Given the description of an element on the screen output the (x, y) to click on. 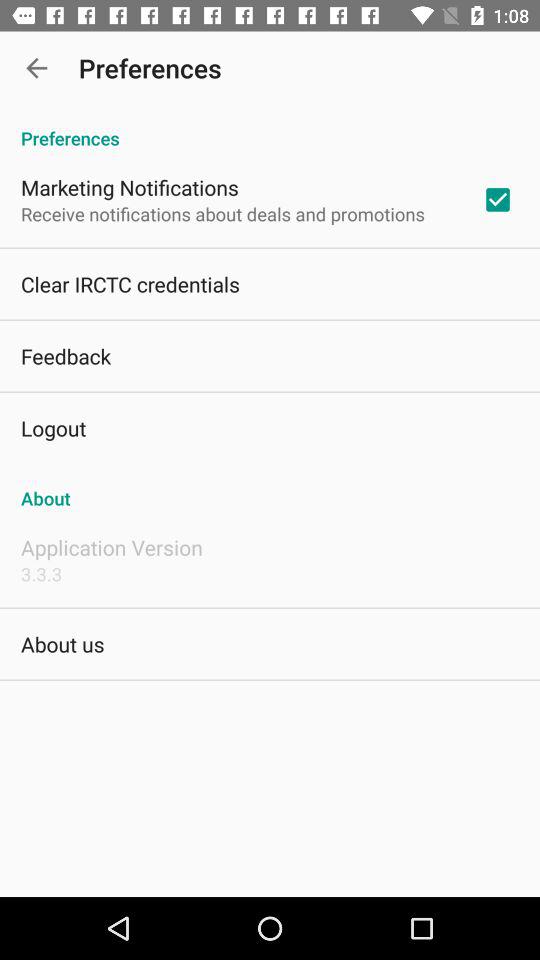
jump until clear irctc credentials app (130, 284)
